Given the description of an element on the screen output the (x, y) to click on. 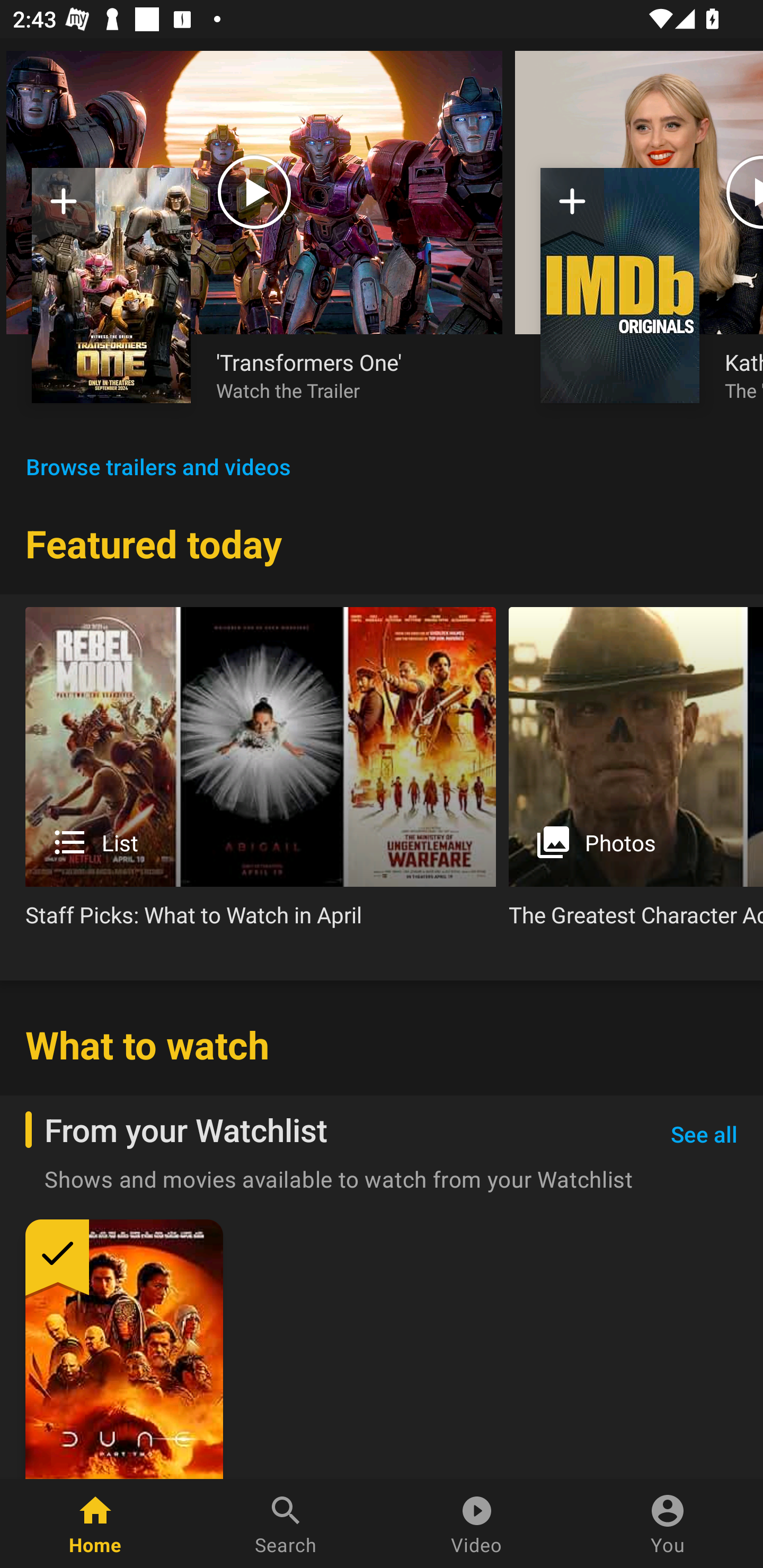
Not in watchlist (111, 284)
Not in watchlist (63, 207)
Not in watchlist (619, 284)
Not in watchlist (572, 207)
'Transformers One' Watch the Trailer (345, 374)
List Staff Picks: What to Watch in April (260, 774)
Photos The Greatest Character Actors of All Time (635, 774)
See all See all From your Watchlist (703, 1134)
Search (285, 1523)
Video (476, 1523)
You (667, 1523)
